Given the description of an element on the screen output the (x, y) to click on. 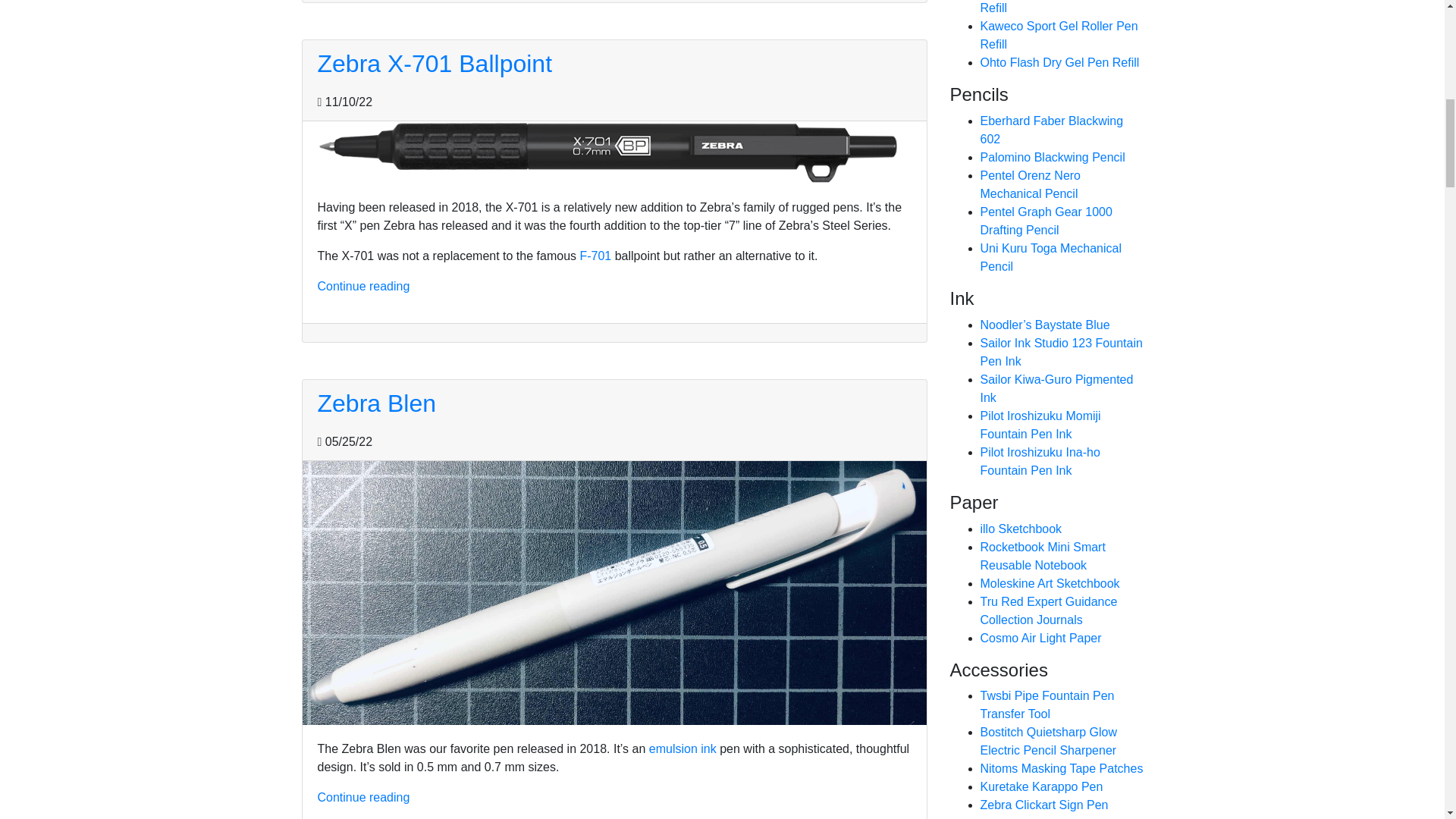
Zebra Blen (376, 402)
Zebra X-701 Ballpoint (434, 62)
F-701 (595, 255)
emulsion ink (682, 748)
